Given the description of an element on the screen output the (x, y) to click on. 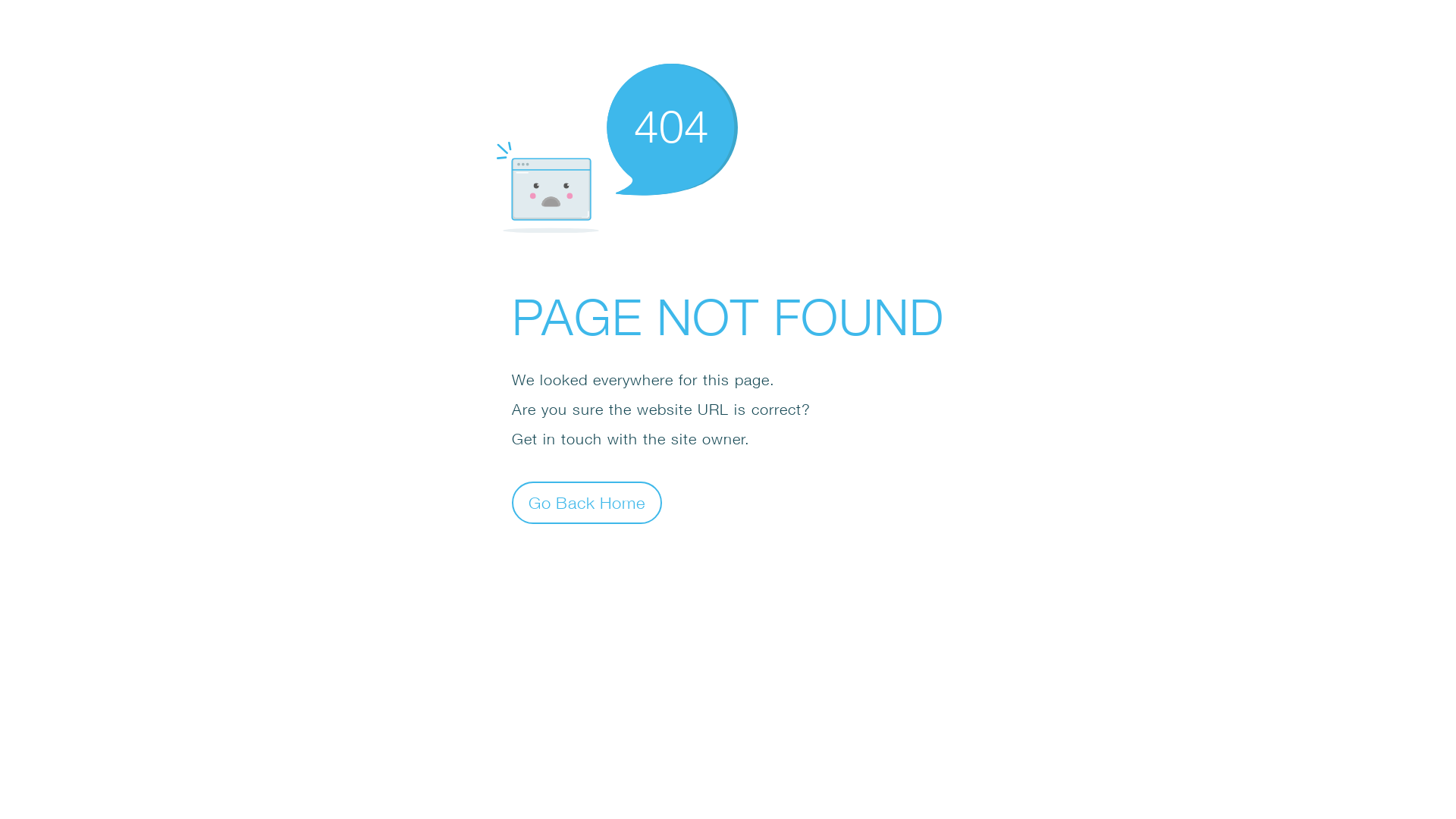
Go Back Home Element type: text (586, 502)
